Given the description of an element on the screen output the (x, y) to click on. 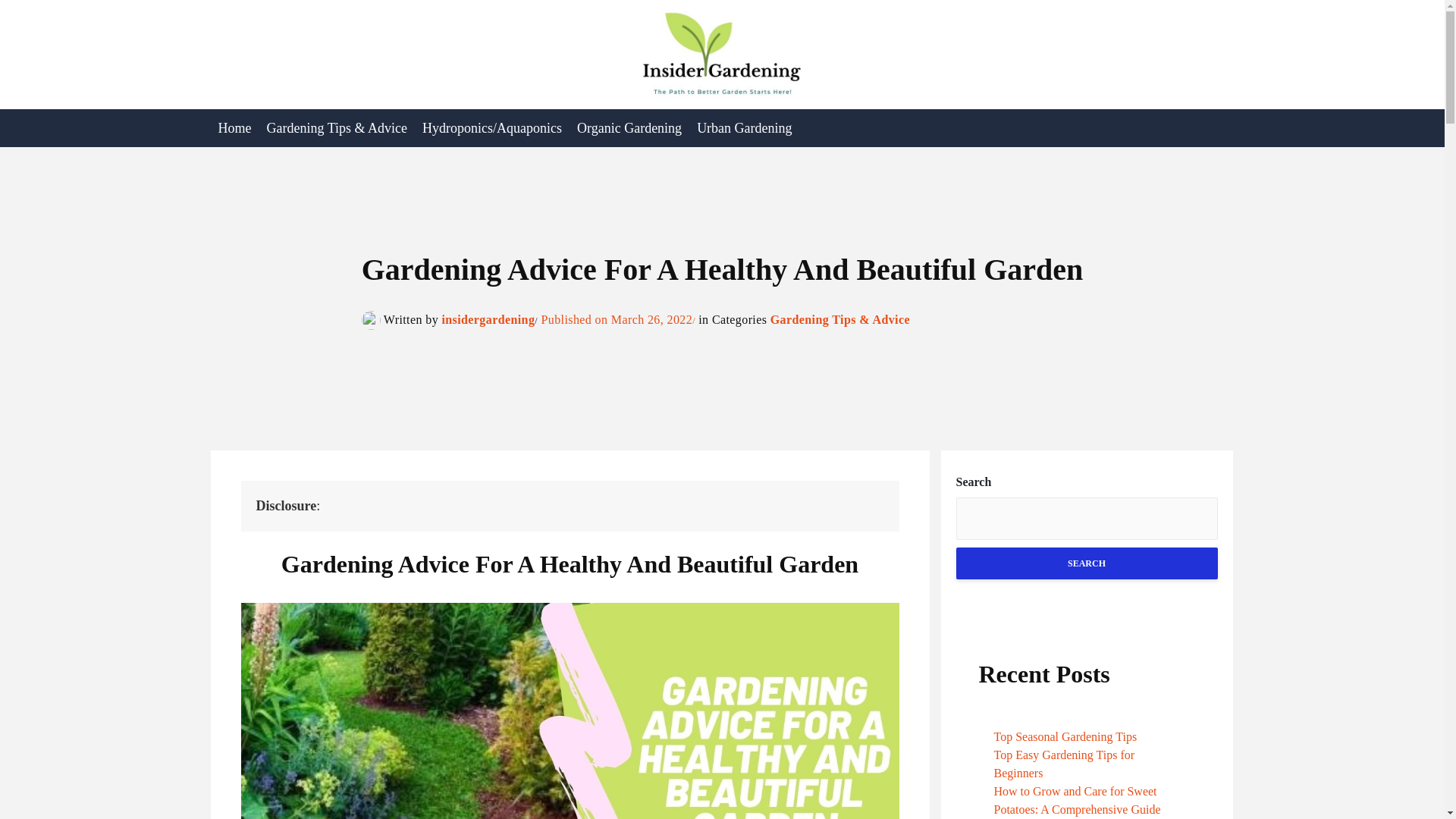
Organic Gardening (628, 127)
Posts by insidergardening (487, 318)
Home (235, 127)
Top Easy Gardening Tips for Beginners (1063, 763)
Top Seasonal Gardening Tips (1064, 736)
Urban Gardening (743, 127)
insidergardening (487, 318)
SEARCH (1086, 563)
Published on March 26, 2022 (616, 318)
